Given the description of an element on the screen output the (x, y) to click on. 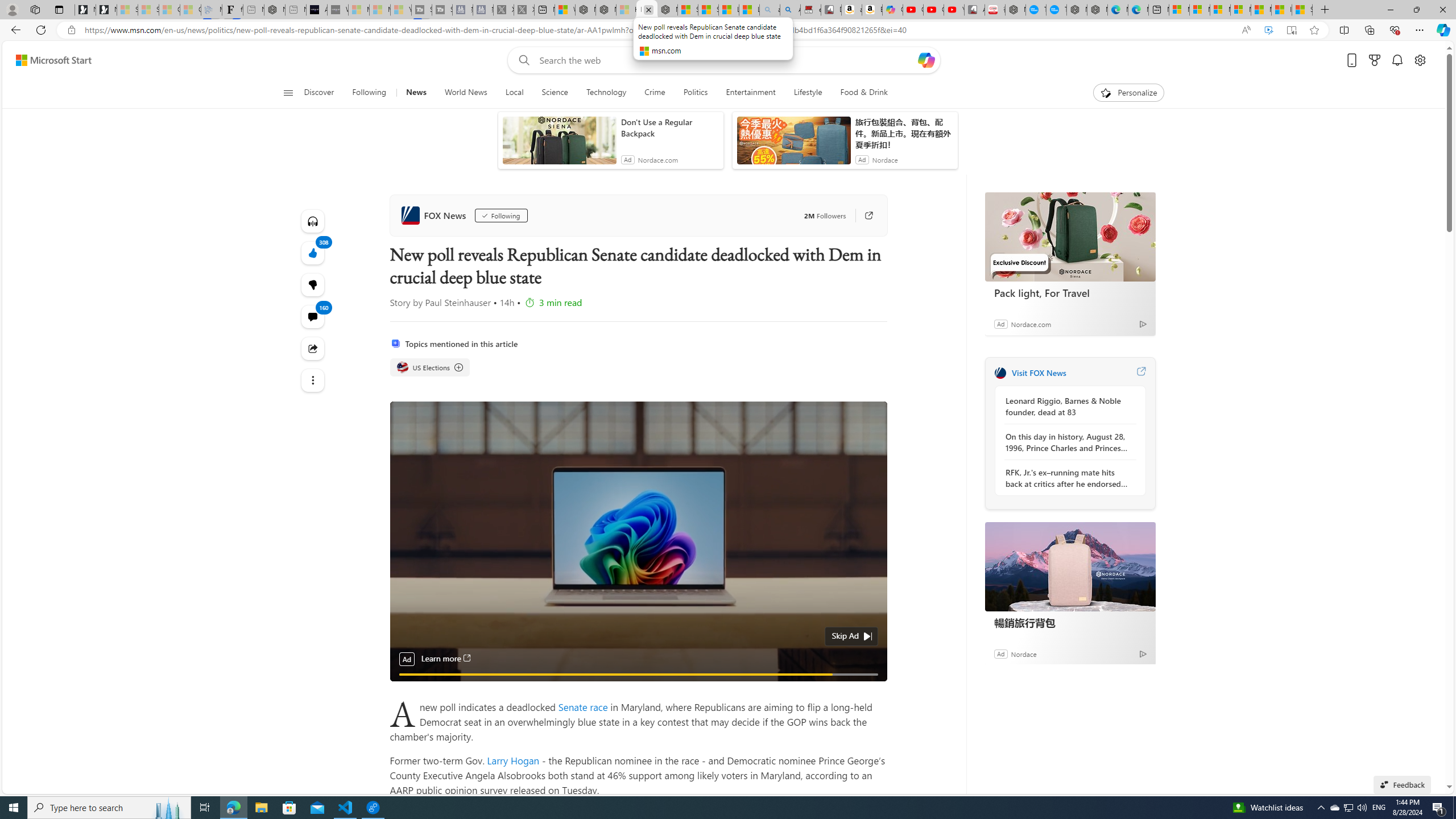
Microsoft account | Microsoft Account Privacy Settings (1199, 9)
Science (554, 92)
amazon - Search - Sleeping (769, 9)
Learn more (446, 658)
Nordace - My Account (1015, 9)
